Given the description of an element on the screen output the (x, y) to click on. 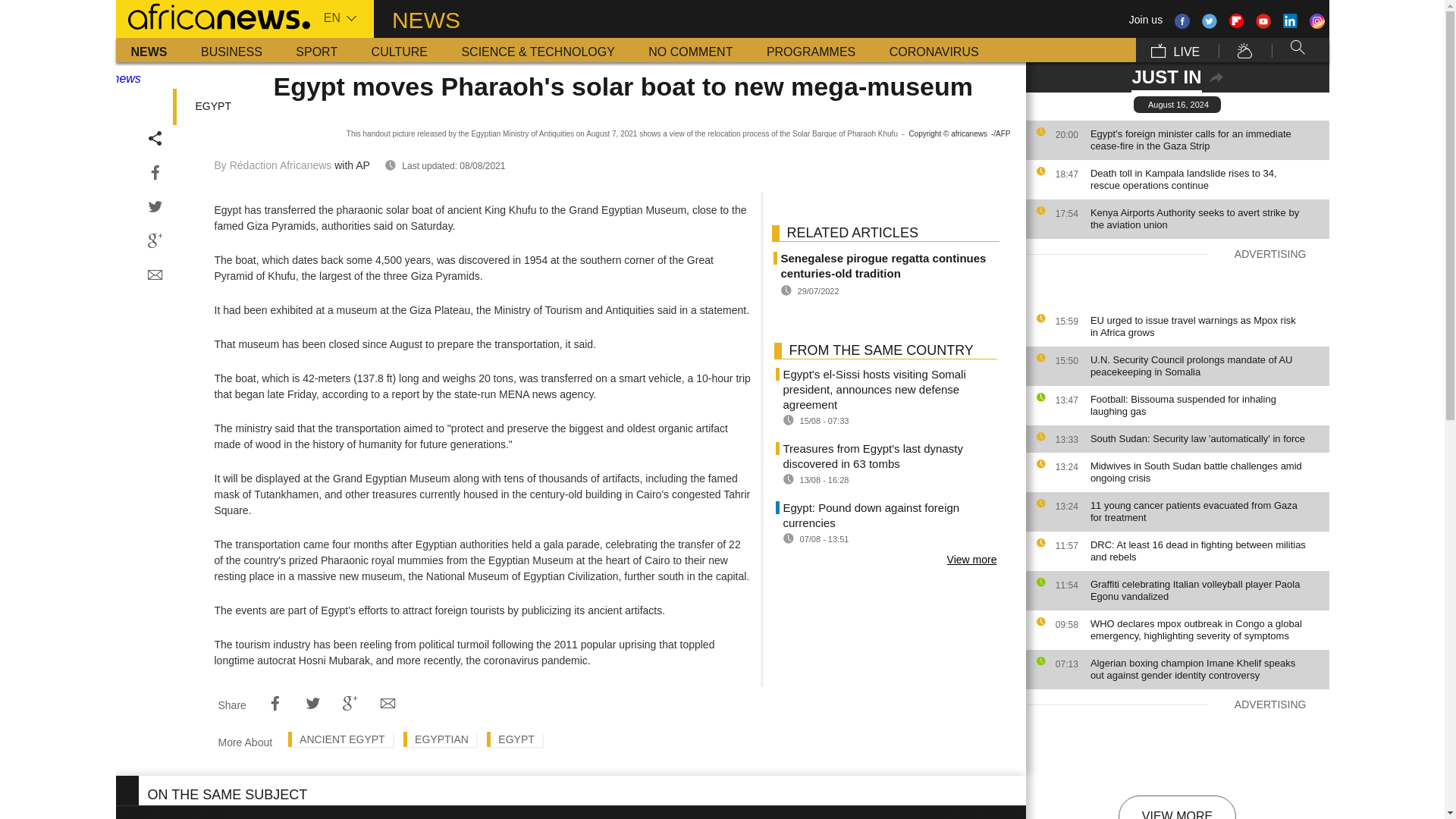
NO COMMENT (690, 49)
News (148, 49)
BUSINESS (232, 49)
Africanews (211, 15)
SPORT (316, 49)
No Comment (690, 49)
NEWS (148, 49)
Culture (399, 49)
